Given the description of an element on the screen output the (x, y) to click on. 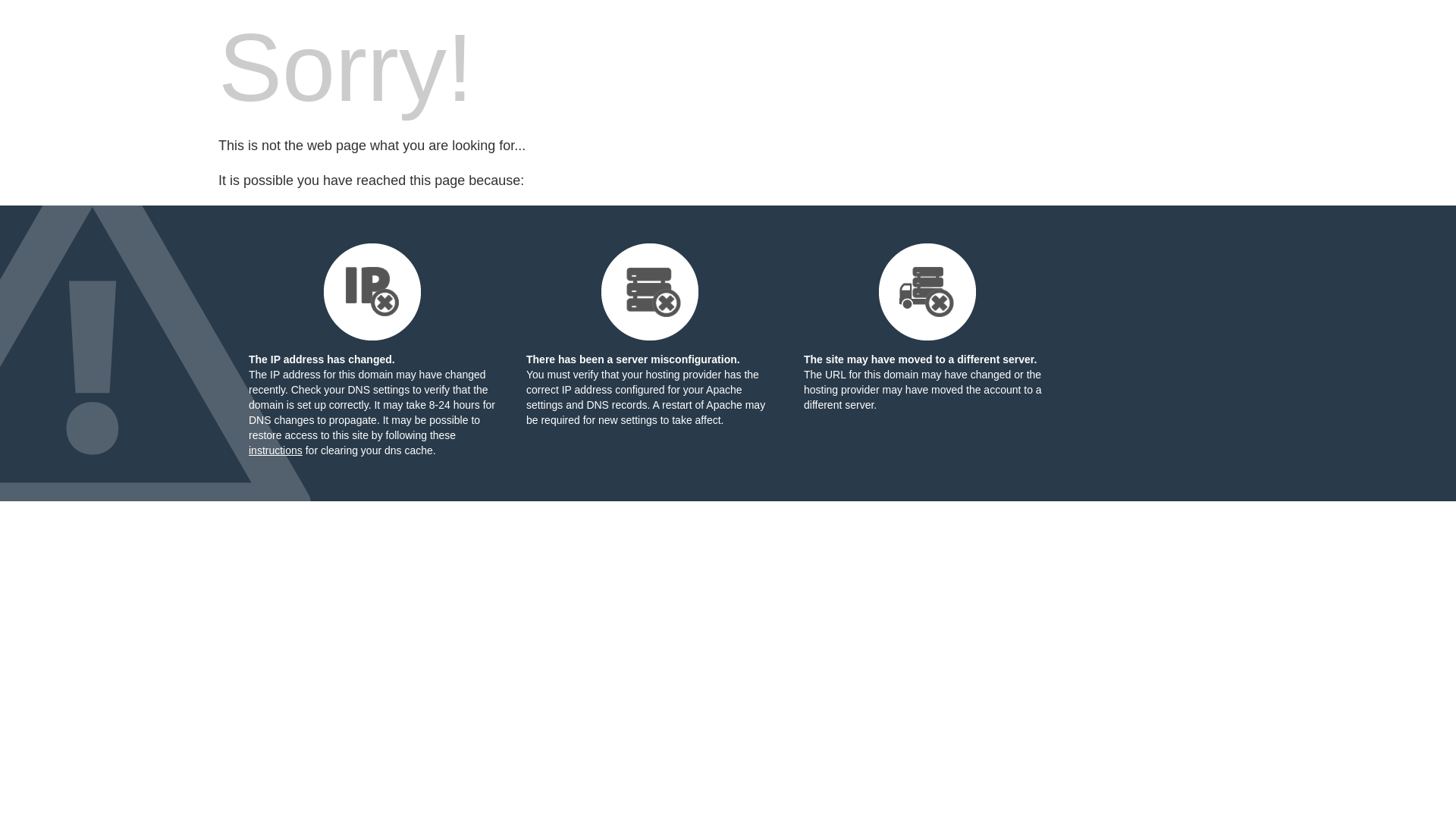
instructions Element type: text (275, 450)
